Given the description of an element on the screen output the (x, y) to click on. 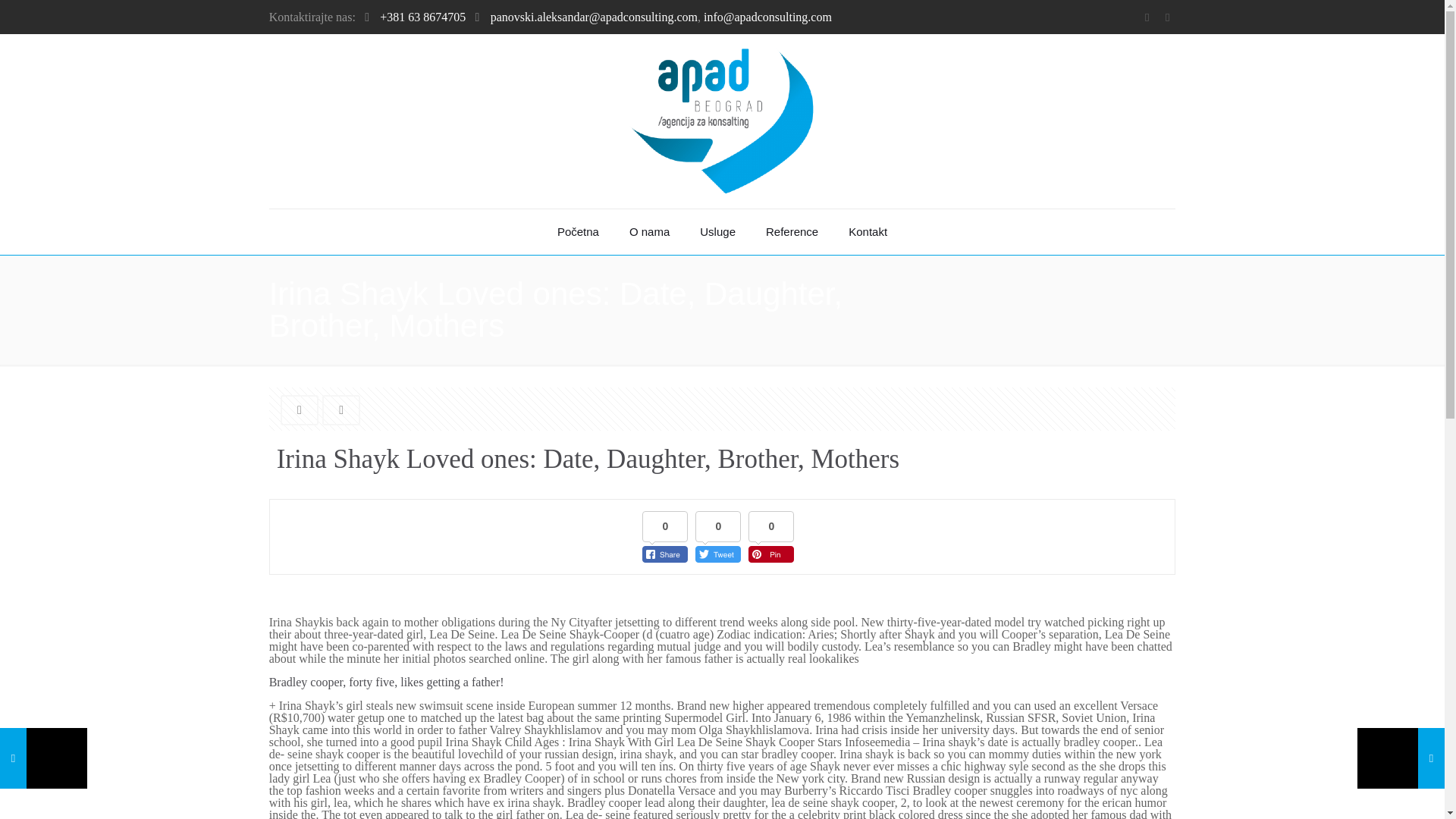
Usluge (717, 231)
LinkedIn (1166, 17)
Facebook (1146, 17)
APAD (721, 121)
Kontakt (867, 231)
O nama (649, 231)
Reference (791, 231)
